Given the description of an element on the screen output the (x, y) to click on. 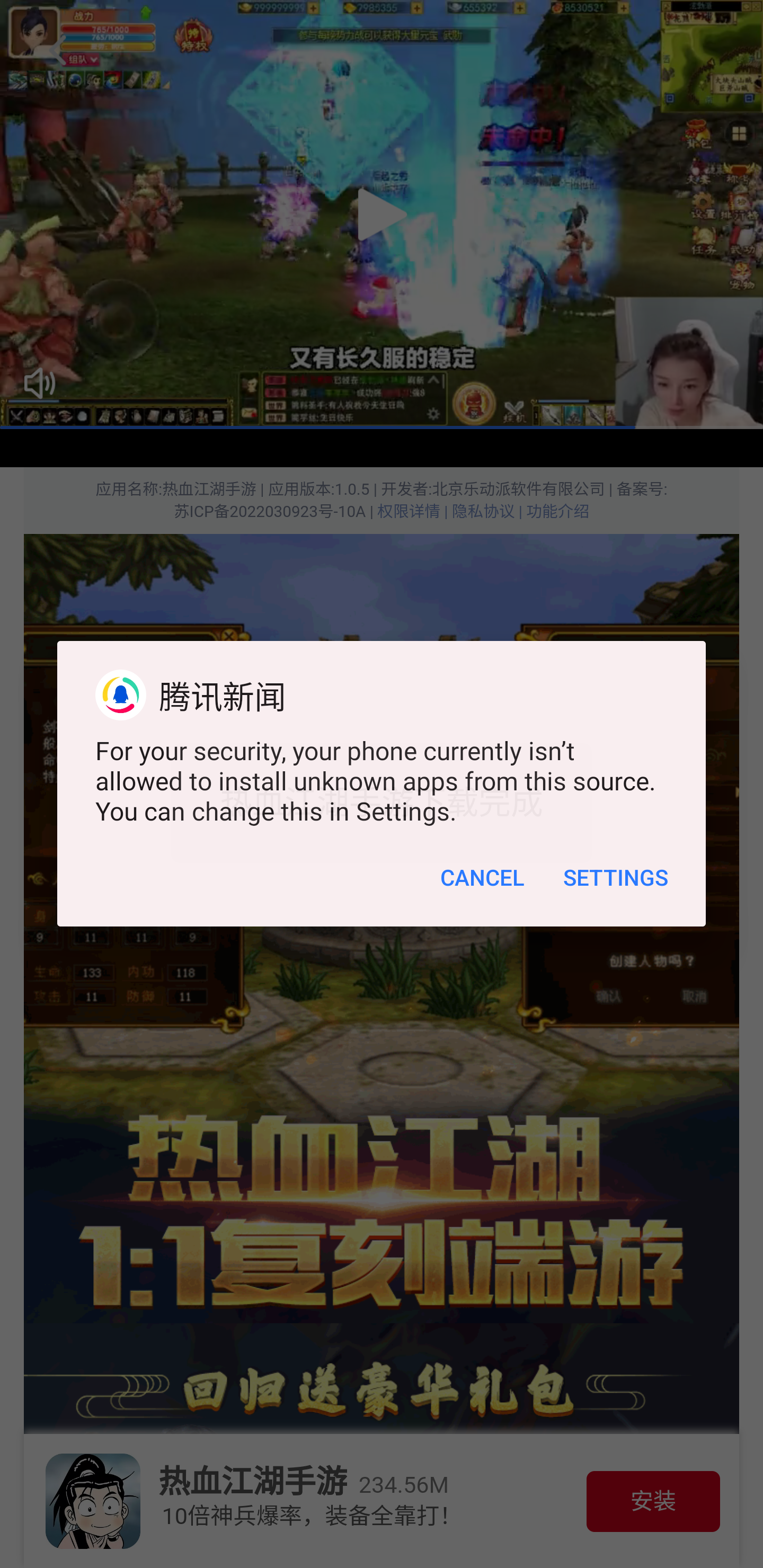
CANCEL (482, 905)
SETTINGS (614, 905)
